Given the description of an element on the screen output the (x, y) to click on. 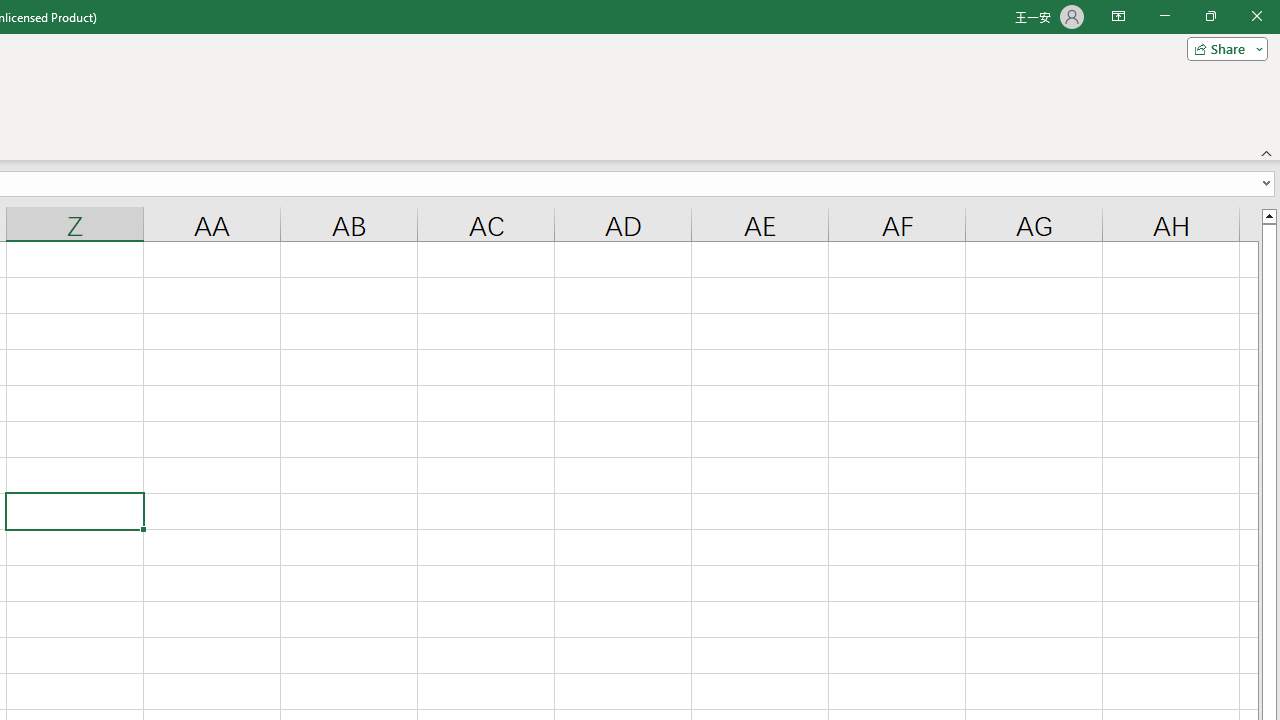
Share (1223, 48)
Collapse the Ribbon (1267, 152)
Minimize (1164, 16)
Restore Down (1210, 16)
Close (1256, 16)
Line up (1268, 215)
Ribbon Display Options (1118, 16)
